Given the description of an element on the screen output the (x, y) to click on. 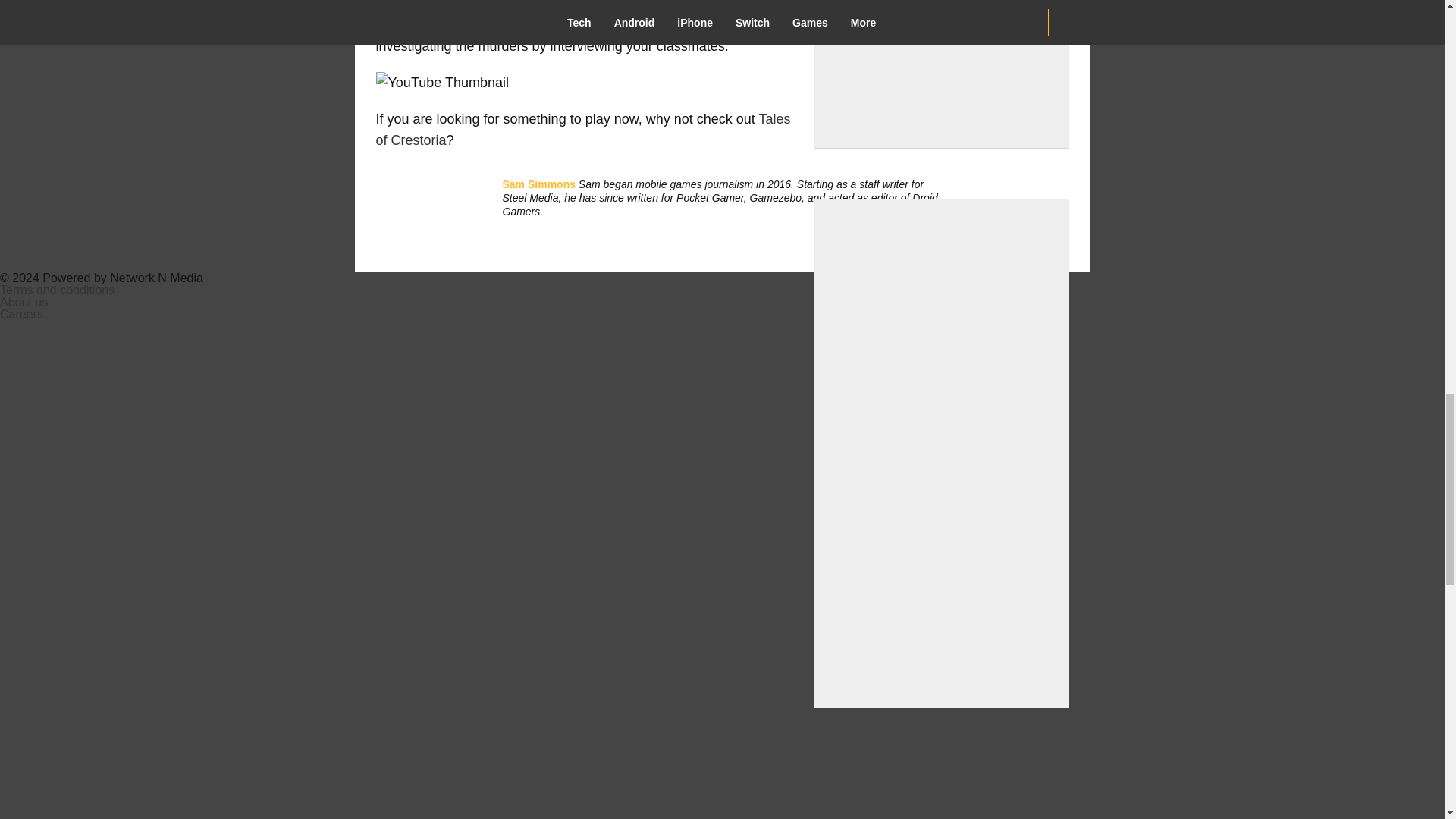
Careers (21, 314)
Sam Simmons (538, 183)
Terms and conditions (57, 289)
Tales of Crestoria (582, 129)
About us (24, 301)
